Given the description of an element on the screen output the (x, y) to click on. 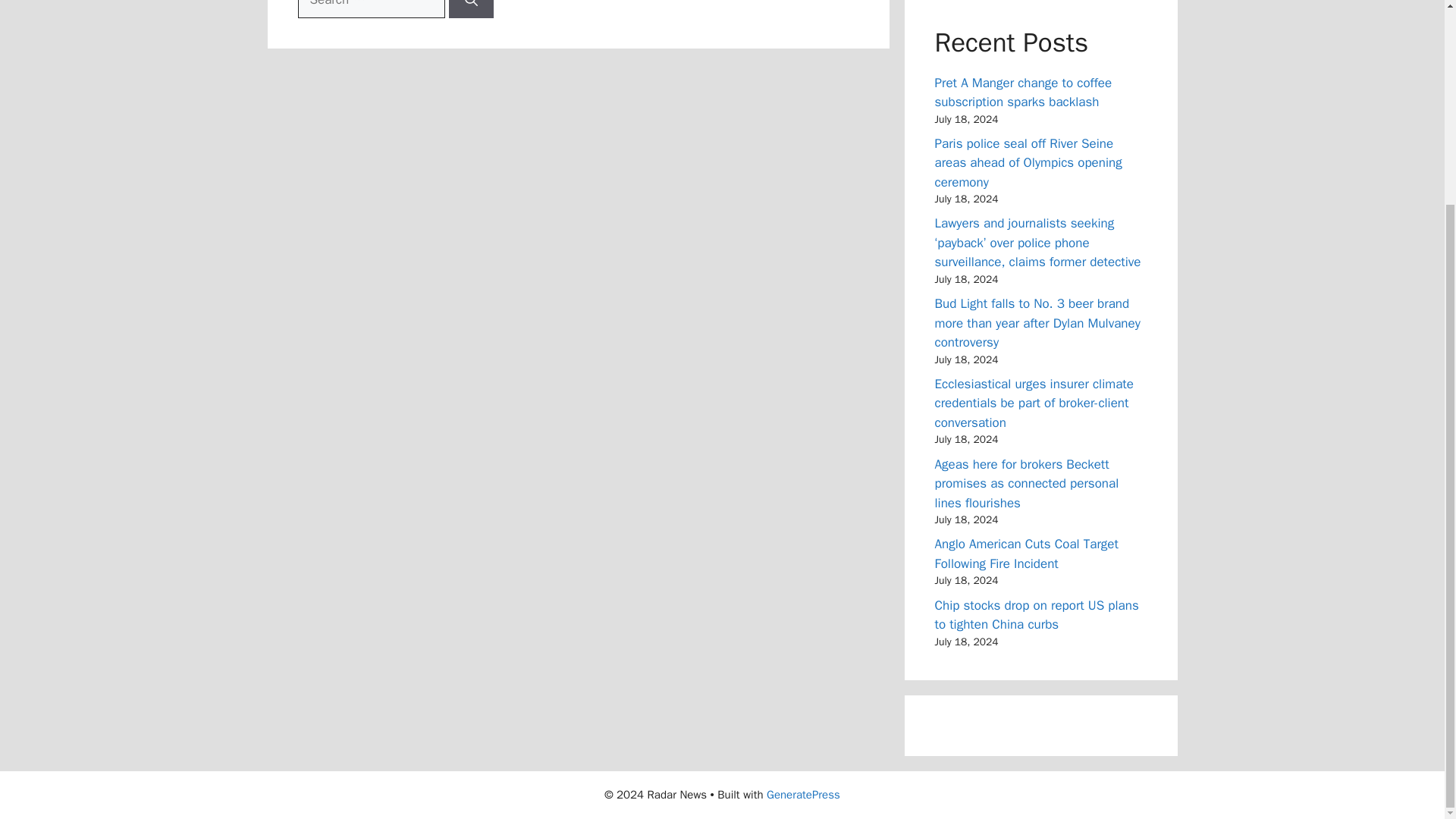
Pret A Manger change to coffee subscription sparks backlash (1023, 92)
Chip stocks drop on report US plans to tighten China curbs (1036, 615)
GeneratePress (803, 794)
Search for: (370, 9)
Anglo American Cuts Coal Target Following Fire Incident (1026, 553)
